Given the description of an element on the screen output the (x, y) to click on. 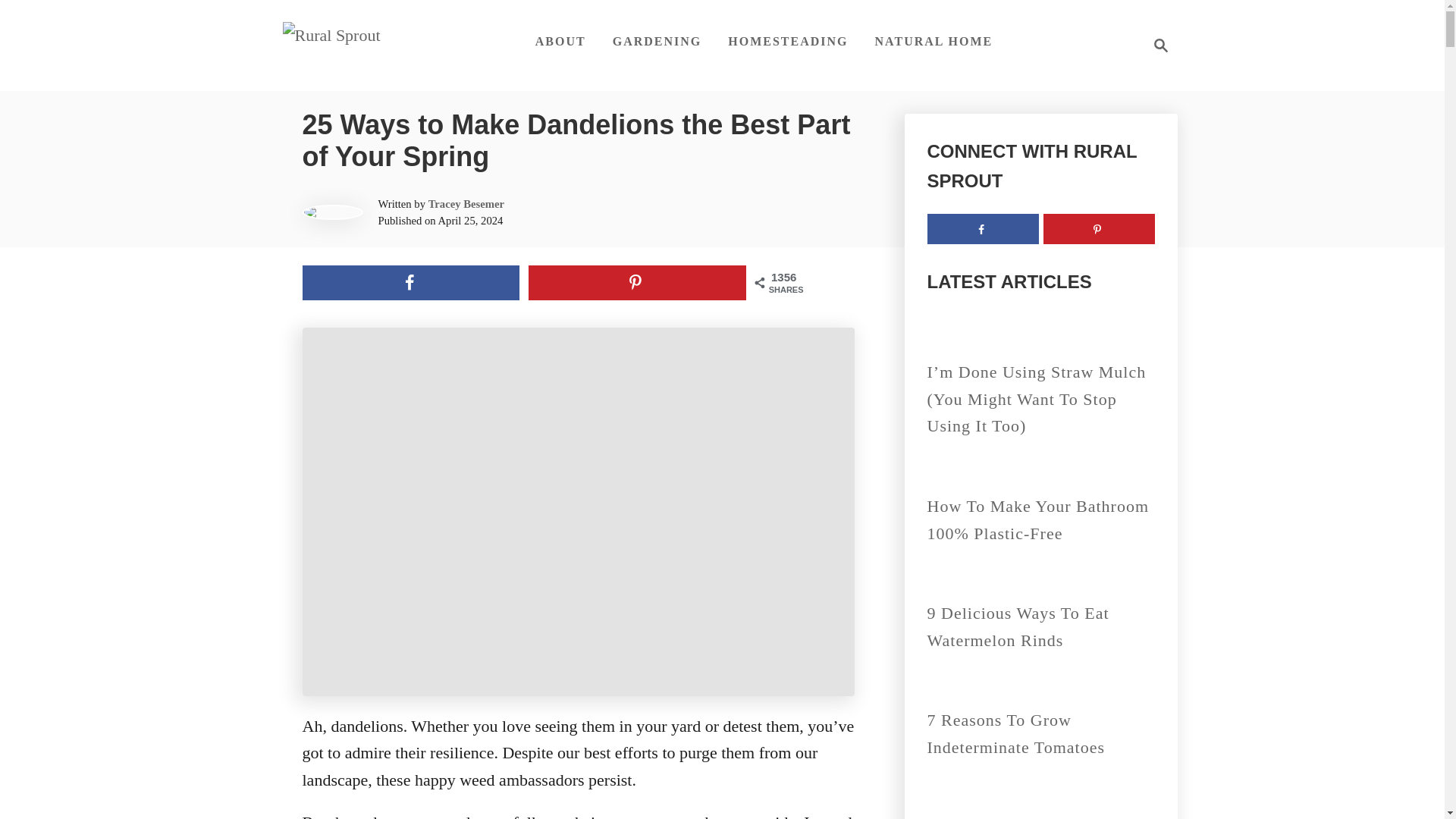
HOMESTEADING (788, 41)
ABOUT (560, 41)
Save to Pinterest (636, 282)
NATURAL HOME (934, 41)
Follow on Facebook (982, 228)
Tracey Besemer (465, 203)
Magnifying Glass (1160, 45)
Share on Facebook (410, 282)
Rural Sprout (1155, 45)
